Given the description of an element on the screen output the (x, y) to click on. 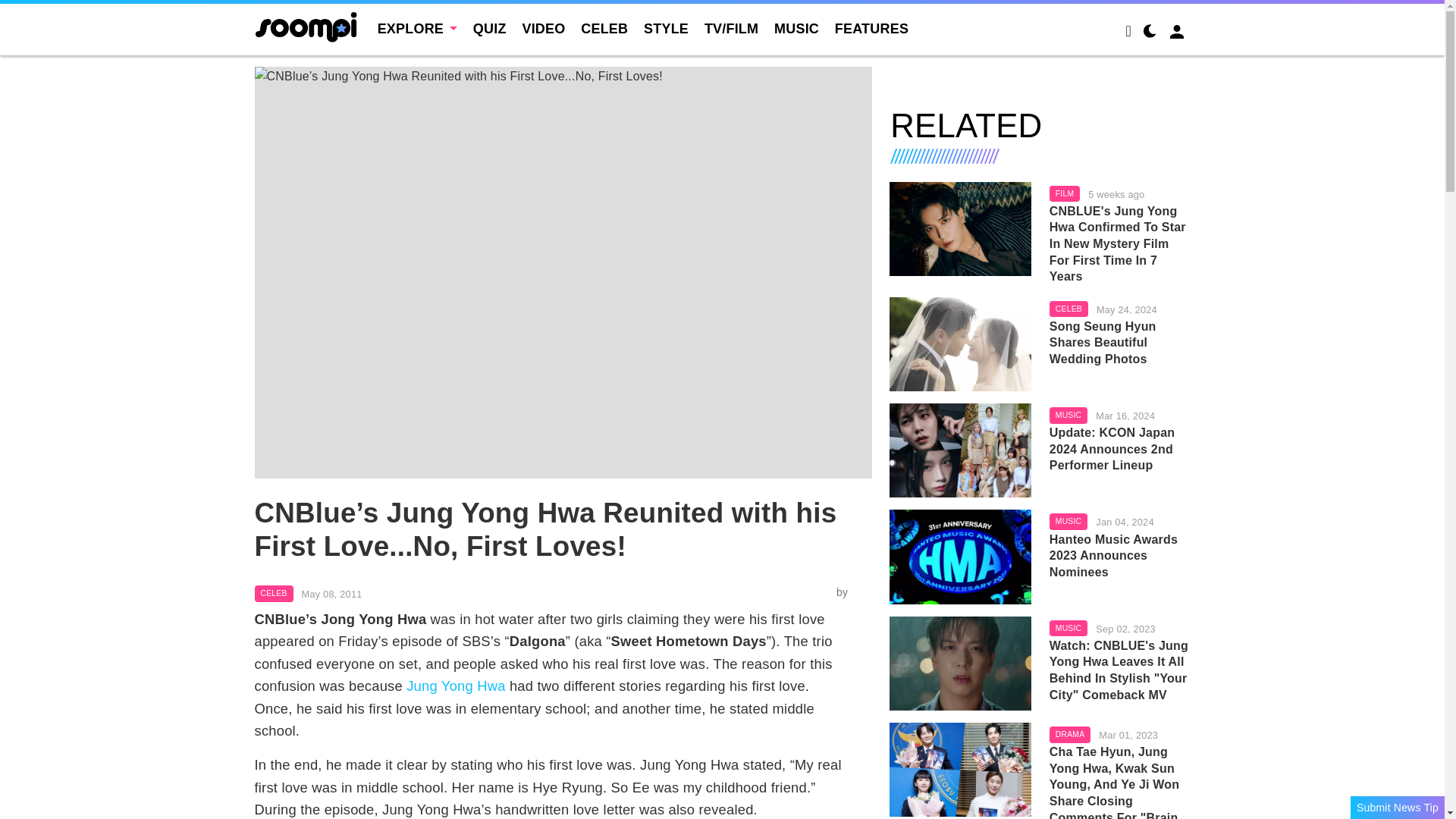
Song Seung Hyun Shares Beautiful Wedding Photos (1120, 342)
Song Seung Hyun Shares Beautiful Wedding Photos (959, 344)
CELEB (274, 593)
VIDEO (542, 28)
Night Mode Toggle (1149, 33)
Film (1064, 193)
EXPLORE (417, 28)
FEATURES (871, 28)
Celeb (1068, 309)
CELEB (603, 28)
Celeb (274, 593)
STYLE (665, 28)
Jung Yong Hwa (455, 685)
MUSIC (796, 28)
